Given the description of an element on the screen output the (x, y) to click on. 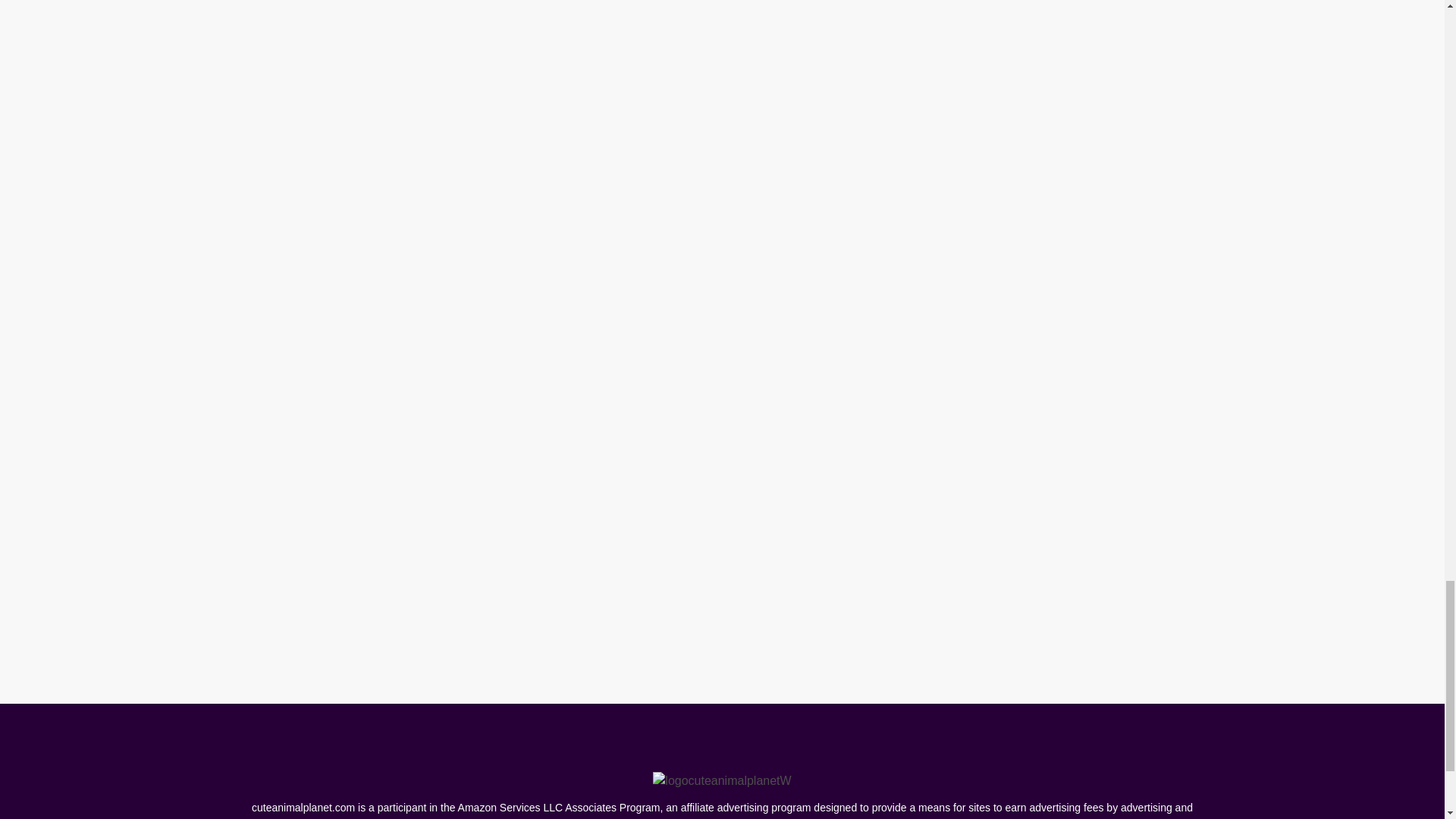
logocuteanimalplanetW (721, 781)
